Given the description of an element on the screen output the (x, y) to click on. 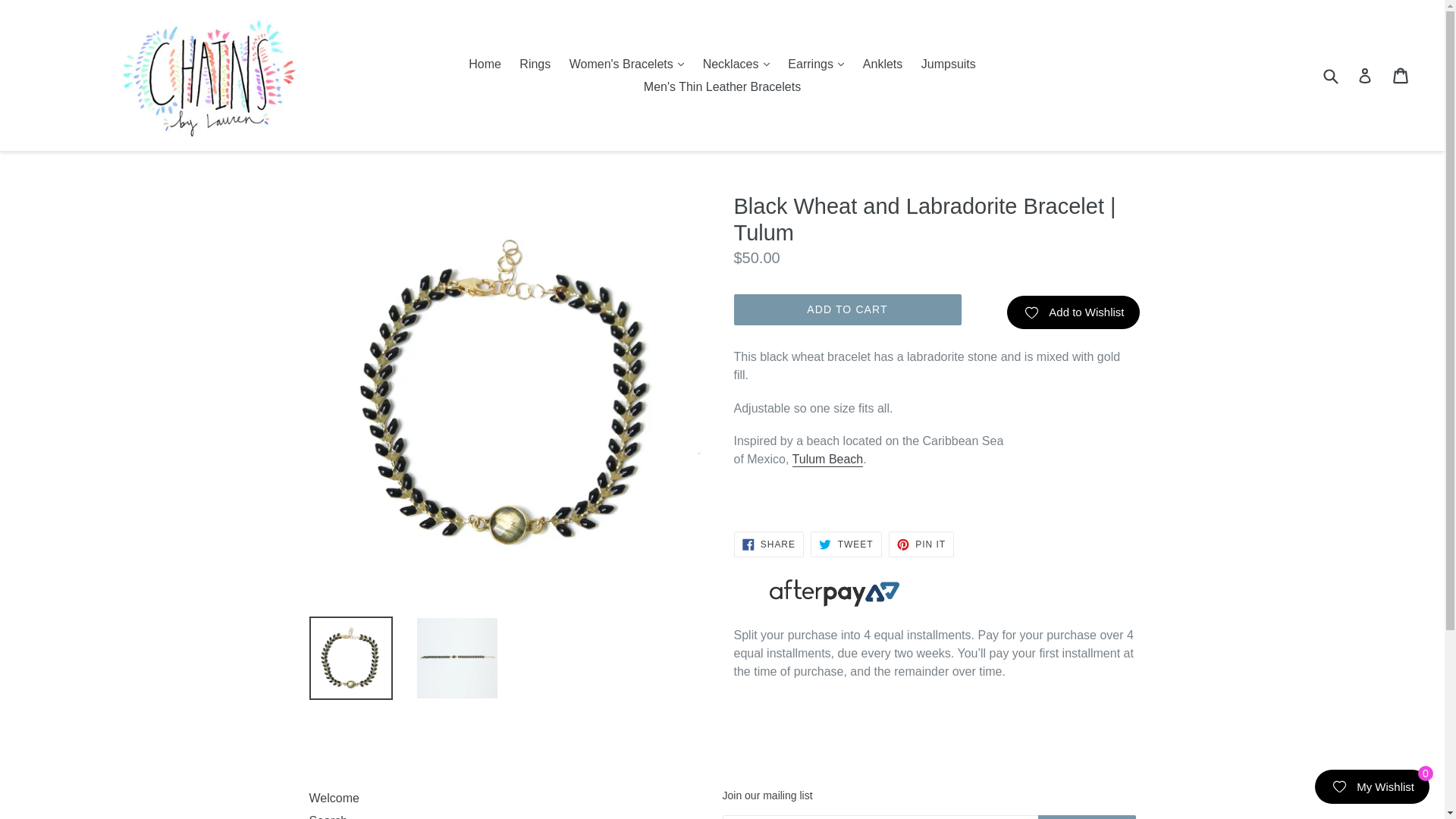
Rings (534, 64)
Share on Facebook (768, 544)
Home (484, 64)
Pin on Pinterest (920, 544)
Tweet on Twitter (845, 544)
